Given the description of an element on the screen output the (x, y) to click on. 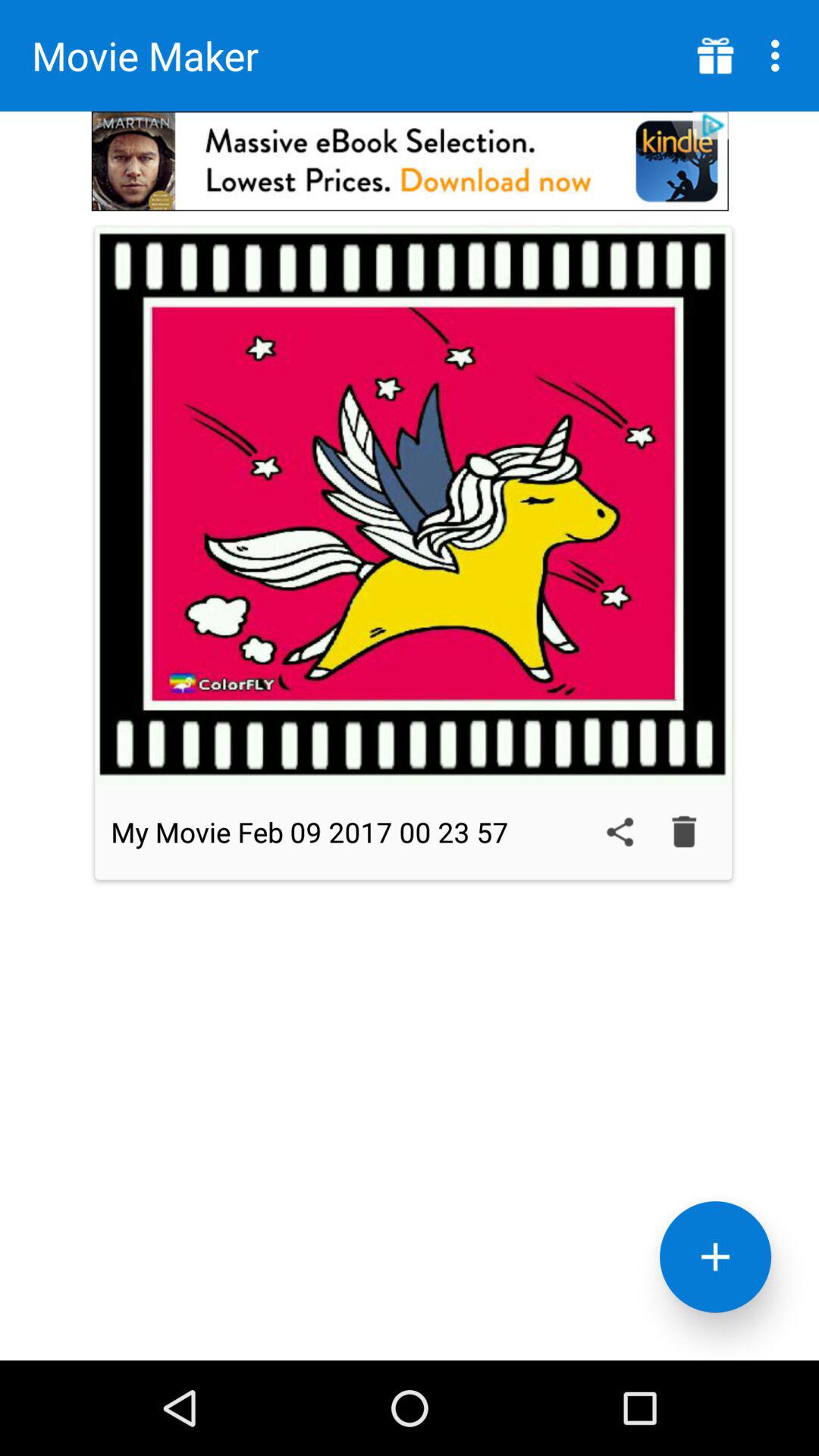
delete image (684, 831)
